Given the description of an element on the screen output the (x, y) to click on. 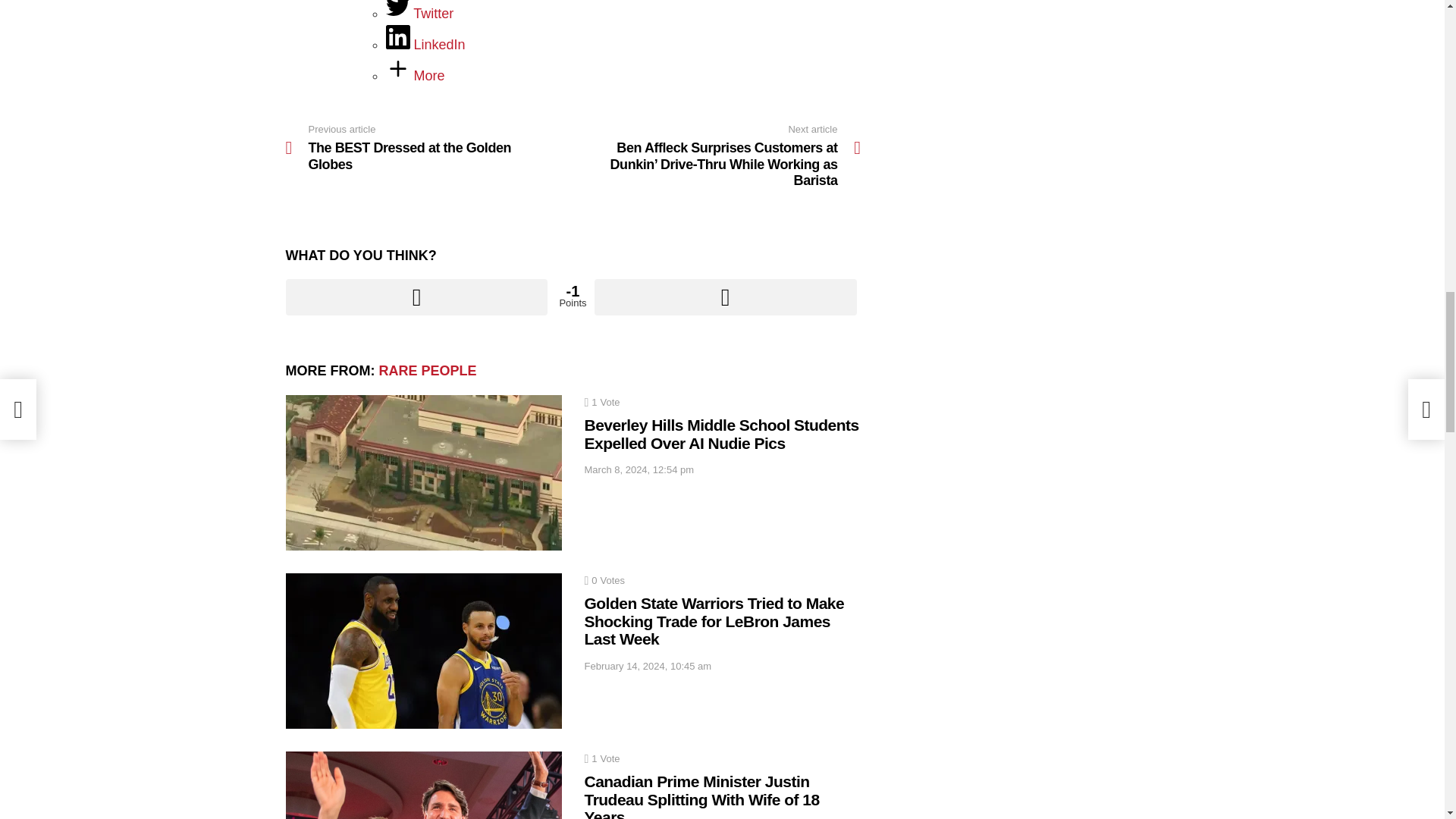
Upvote (416, 297)
Downvote (725, 297)
